Given the description of an element on the screen output the (x, y) to click on. 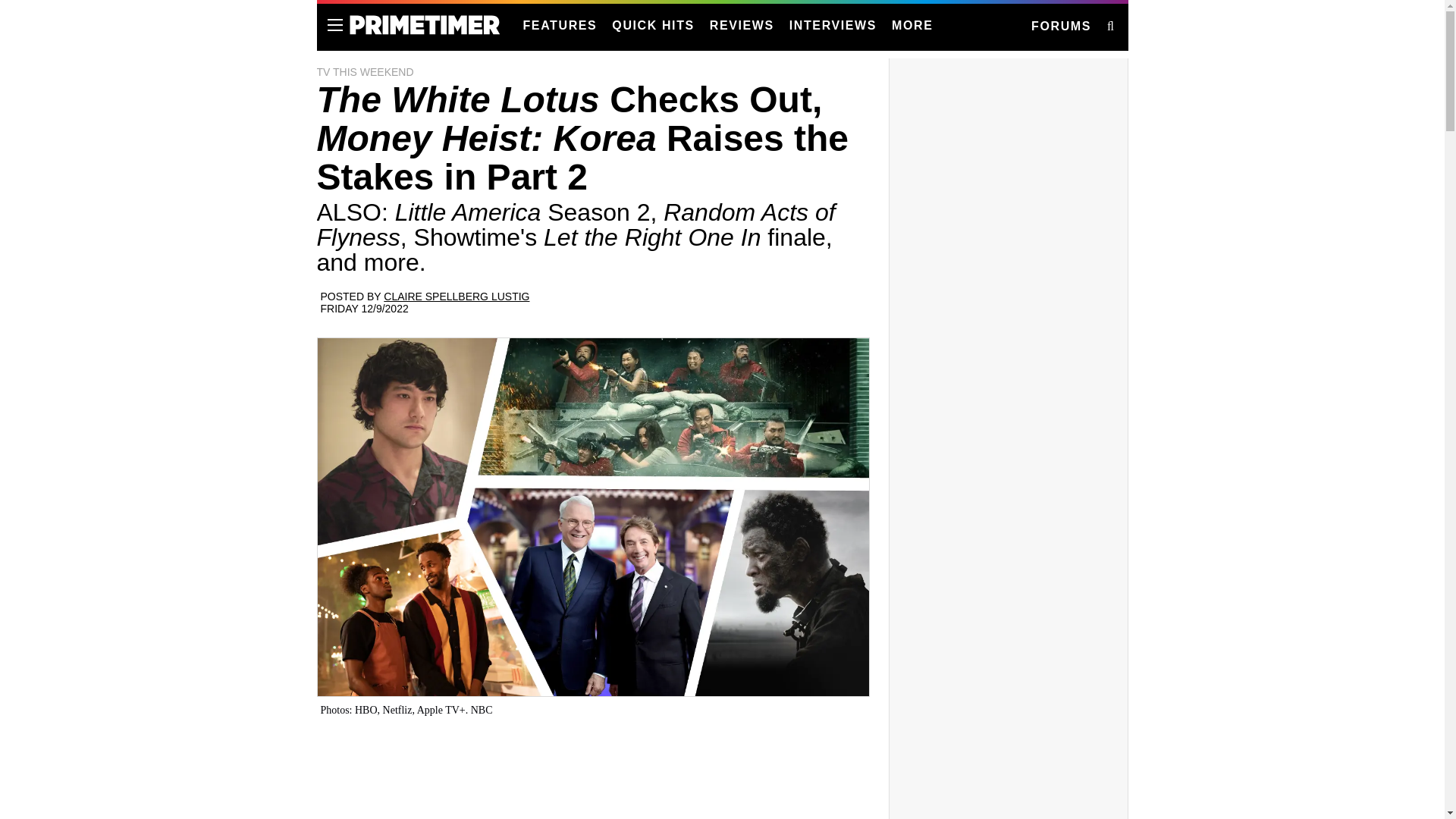
MORE (912, 26)
FEATURES (559, 26)
CLAIRE SPELLBERG LUSTIG (456, 296)
INTERVIEWS (832, 26)
REVIEWS (742, 26)
FORUMS (1060, 26)
QUICK HITS (652, 26)
